Given the description of an element on the screen output the (x, y) to click on. 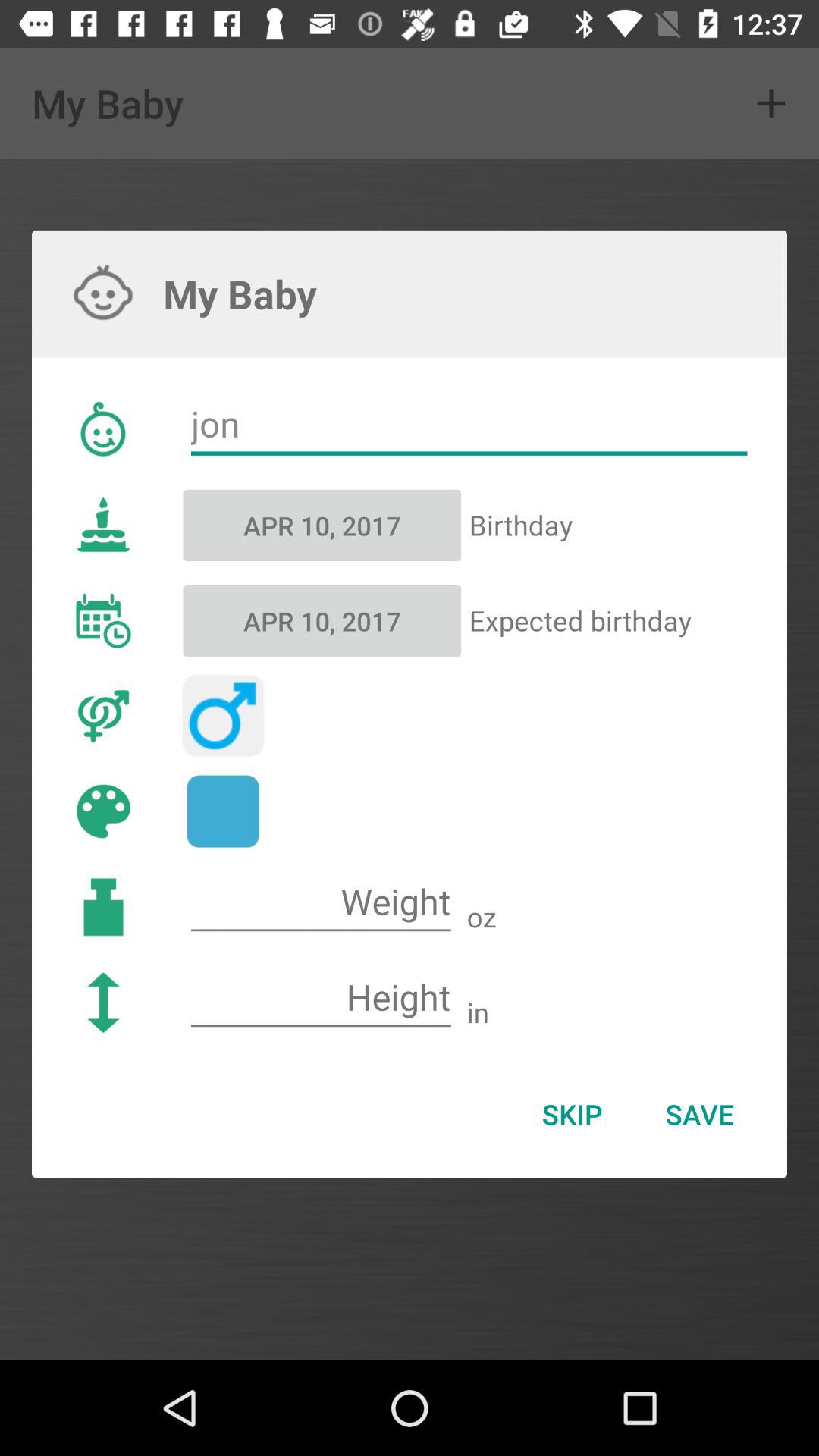
tap icon to the left of save item (571, 1113)
